Given the description of an element on the screen output the (x, y) to click on. 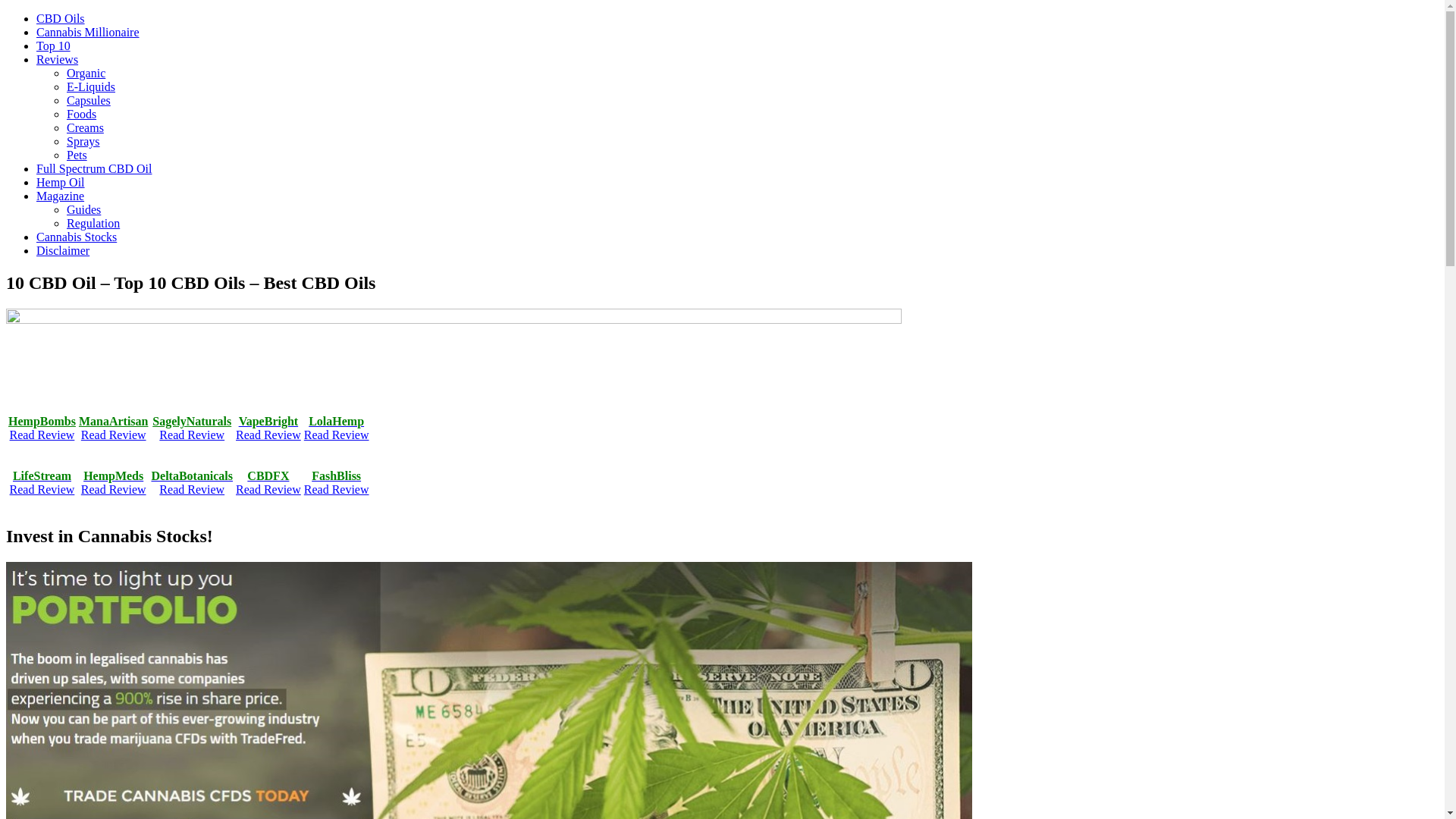
E-Liquids Element type: text (90, 86)
HempMeds
Read Review Element type: text (113, 482)
Creams Element type: text (84, 127)
Disclaimer Element type: text (62, 250)
Read Review Element type: text (42, 434)
Top 10 Element type: text (53, 45)
Full Spectrum CBD Oil Element type: text (93, 168)
Magazine Element type: text (60, 195)
Read Review Element type: text (336, 489)
Read Review Element type: text (268, 489)
DeltaBotanicals
Read Review Element type: text (191, 482)
Read Review Element type: text (42, 489)
Read Review Element type: text (113, 434)
CBD Oils Element type: text (60, 18)
Pets Element type: text (76, 154)
CBDFX Element type: text (267, 475)
Reviews Element type: text (57, 59)
FashBliss Element type: text (335, 475)
SagelyNaturals Element type: text (191, 420)
Foods Element type: text (81, 113)
VapeBright Element type: text (268, 420)
ManaArtisan Element type: text (113, 420)
Sprays Element type: text (83, 140)
LifeStream Element type: text (41, 475)
Regulation Element type: text (92, 222)
Read Review Element type: text (336, 434)
Organic Element type: text (85, 72)
Cannabis Millionaire Element type: text (87, 31)
Read Review Element type: text (191, 434)
Guides Element type: text (83, 209)
LolaHemp Element type: text (336, 420)
HempBombs Element type: text (41, 420)
Read Review Element type: text (268, 434)
Cannabis Stocks Element type: text (76, 236)
Capsules Element type: text (88, 100)
Hemp Oil Element type: text (60, 181)
